Given the description of an element on the screen output the (x, y) to click on. 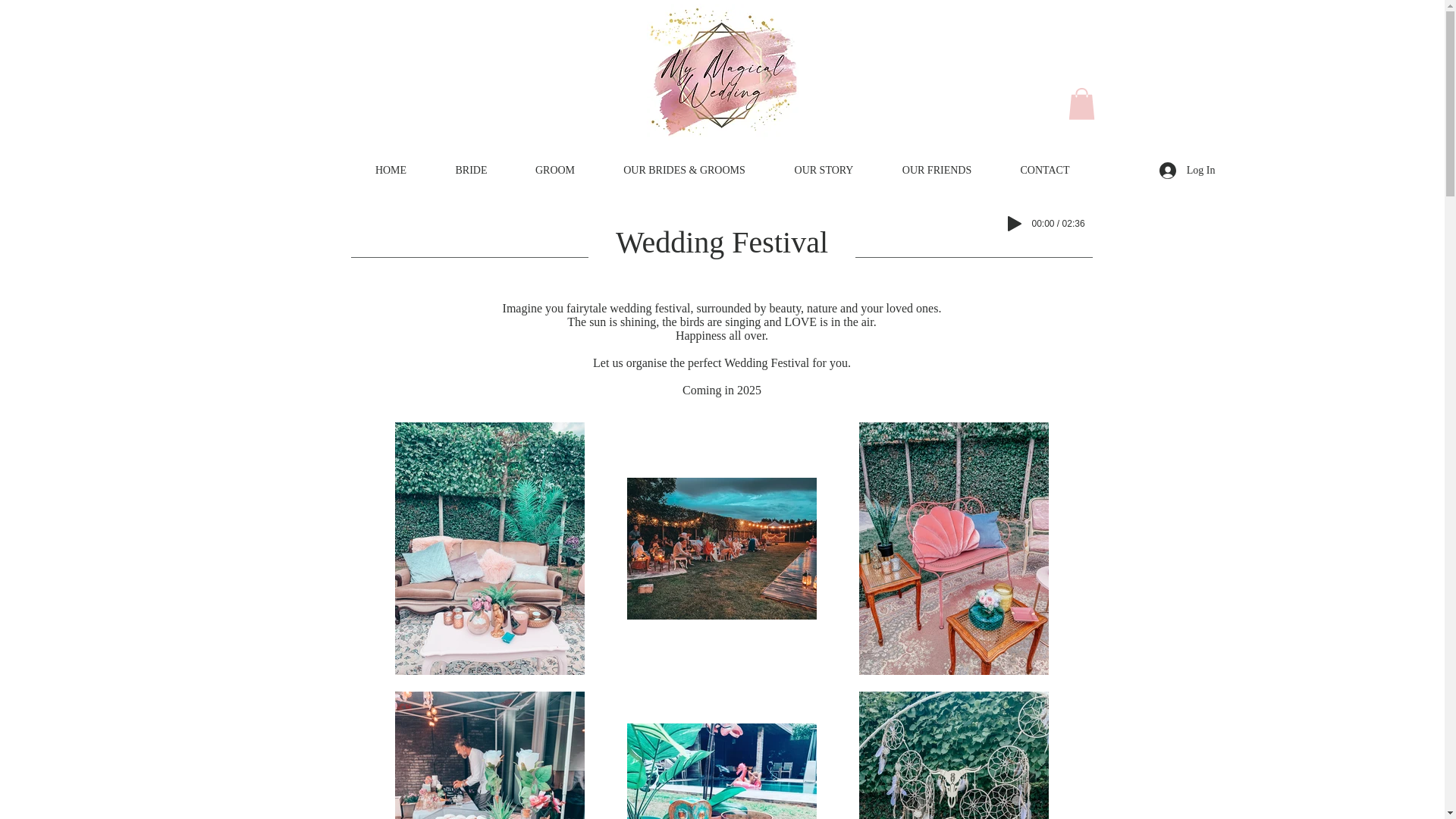
OUR FRIENDS (936, 170)
GROOM (554, 170)
BRIDE (470, 170)
OUR STORY (823, 170)
Log In (1186, 170)
HOME (390, 170)
CONTACT (1044, 170)
